Given the description of an element on the screen output the (x, y) to click on. 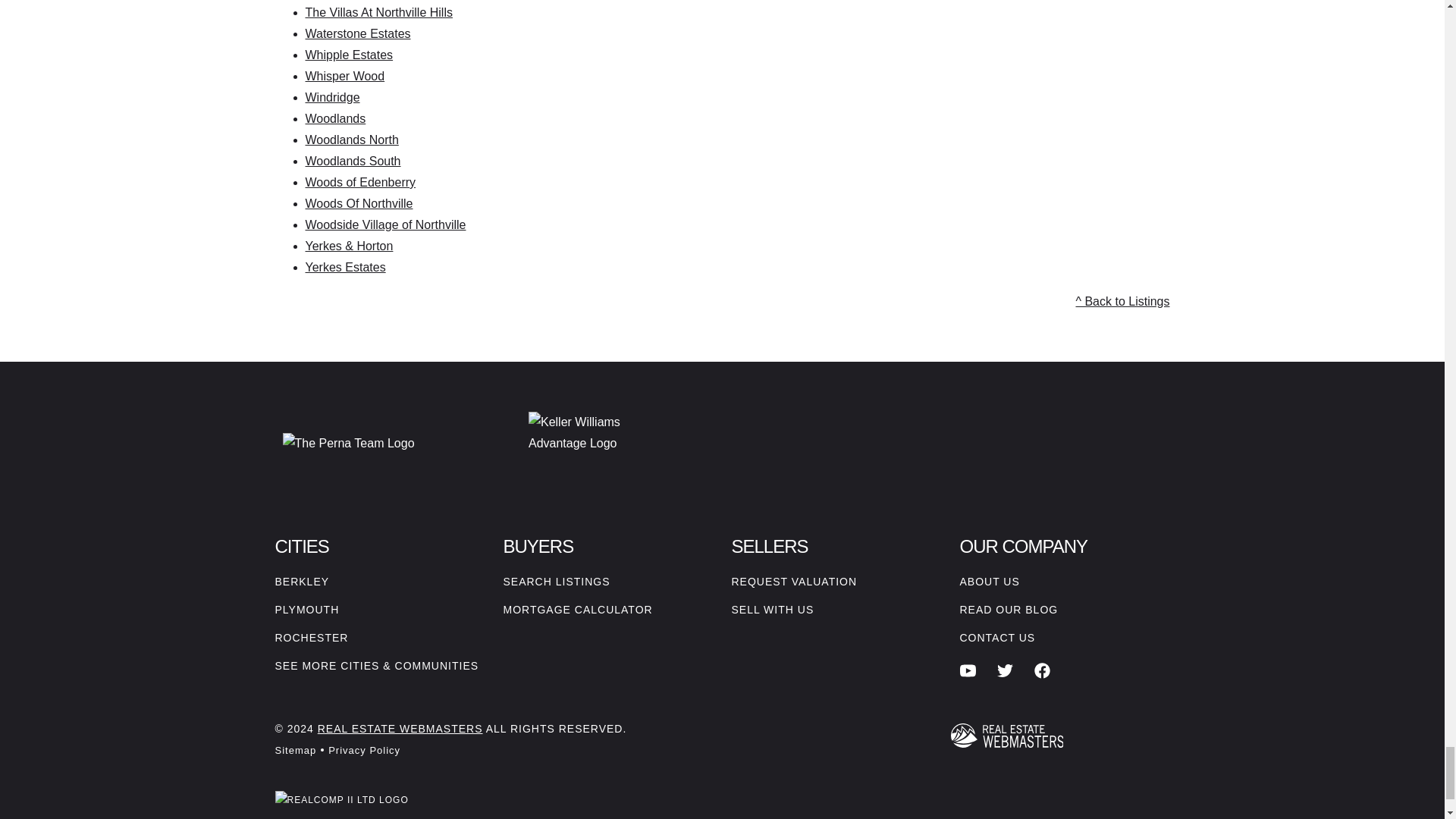
TWITTER (1005, 670)
FACEBOOK (1041, 670)
YOUTUBE (967, 670)
